Given the description of an element on the screen output the (x, y) to click on. 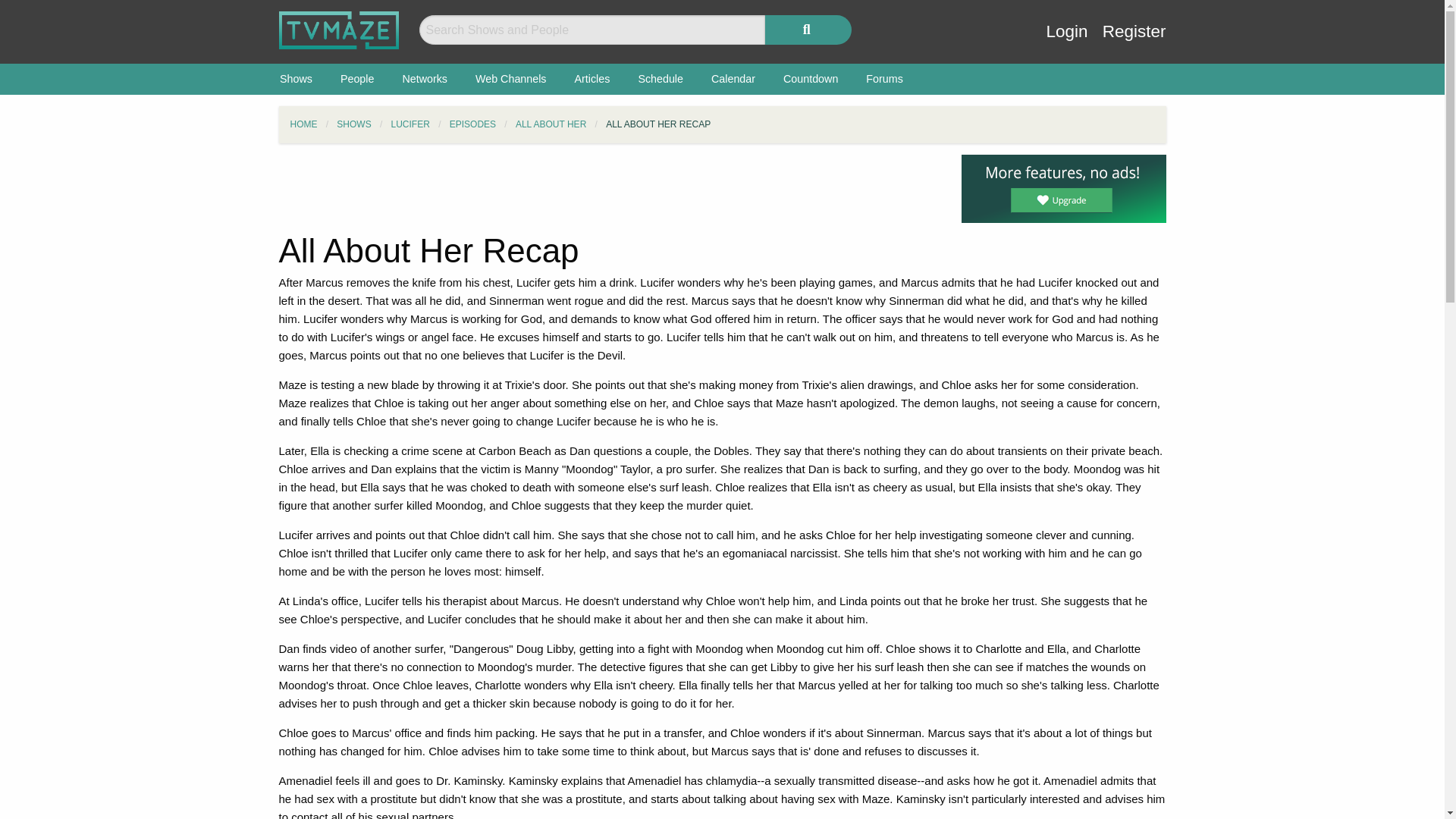
LUCIFER (410, 123)
Networks (425, 79)
Shows (295, 79)
EPISODES (472, 123)
Register (1134, 42)
SHOWS (353, 123)
Countdown (810, 79)
Web Channels (511, 79)
People (357, 79)
ALL ABOUT HER (550, 123)
